Given the description of an element on the screen output the (x, y) to click on. 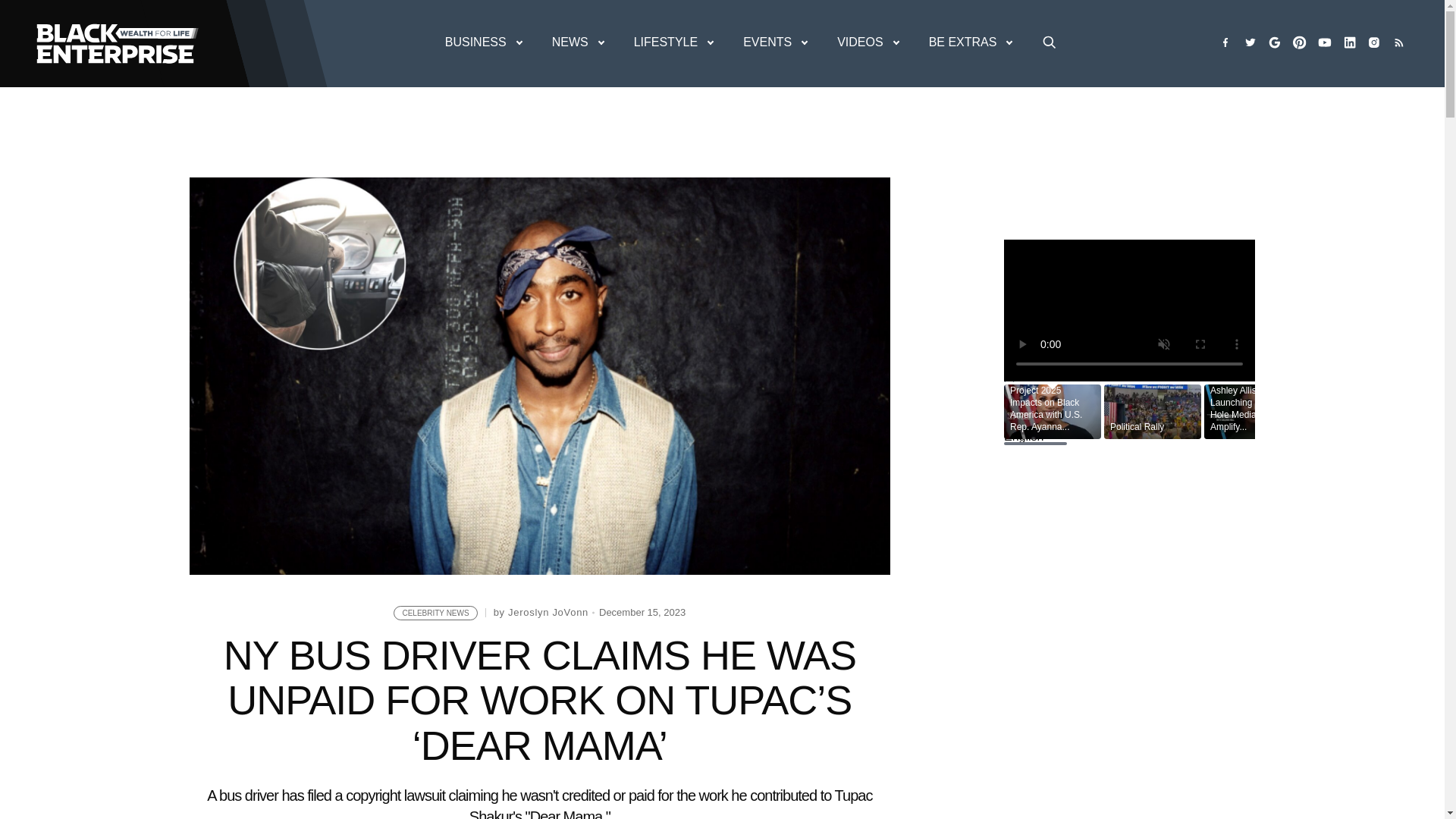
EVENTS (774, 42)
LIFESTYLE (673, 42)
NEWS (577, 42)
BUSINESS (483, 42)
